Given the description of an element on the screen output the (x, y) to click on. 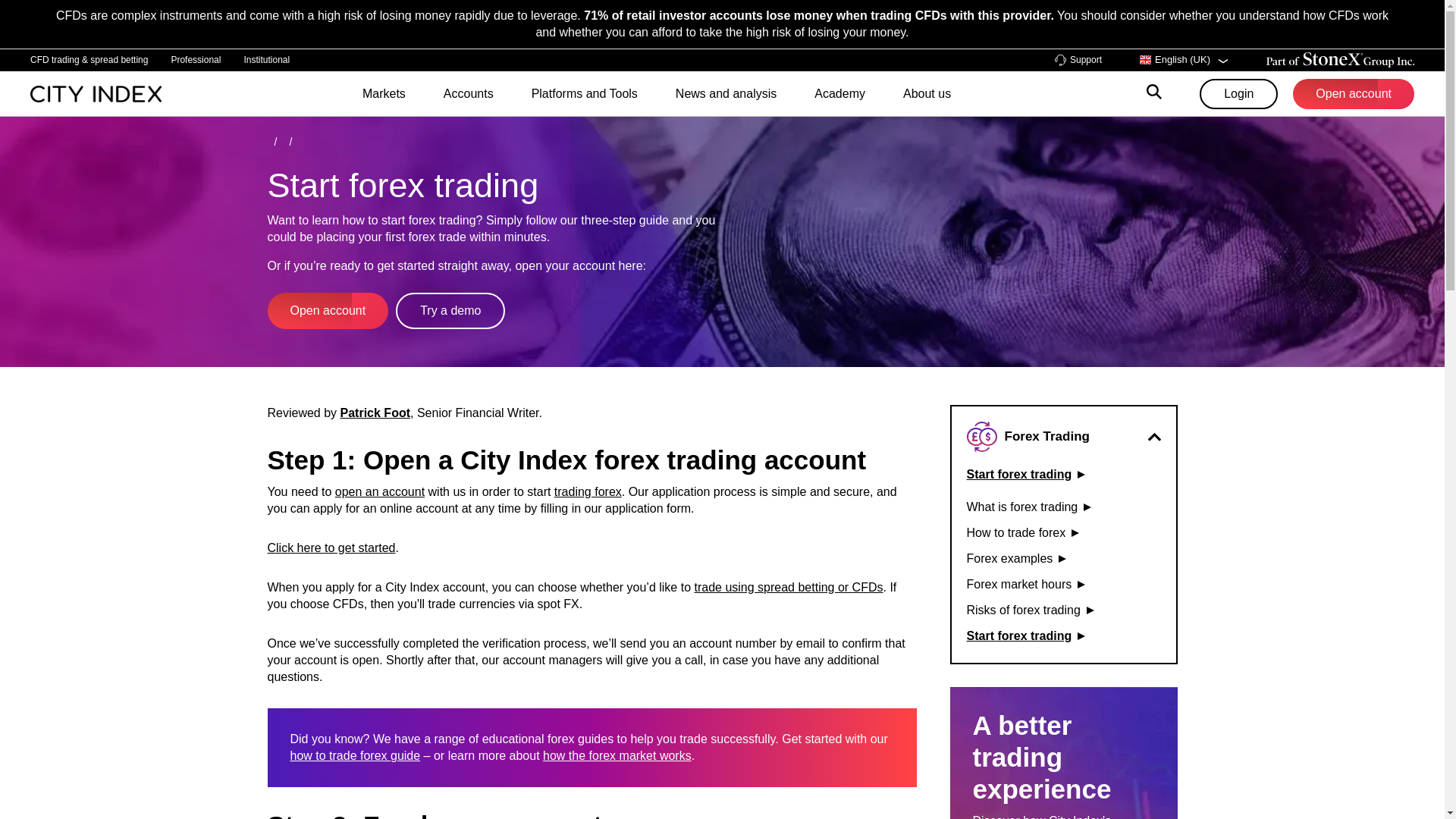
Home (95, 93)
search (1154, 93)
Support (1078, 60)
Professional (195, 59)
Institutional (266, 59)
